Given the description of an element on the screen output the (x, y) to click on. 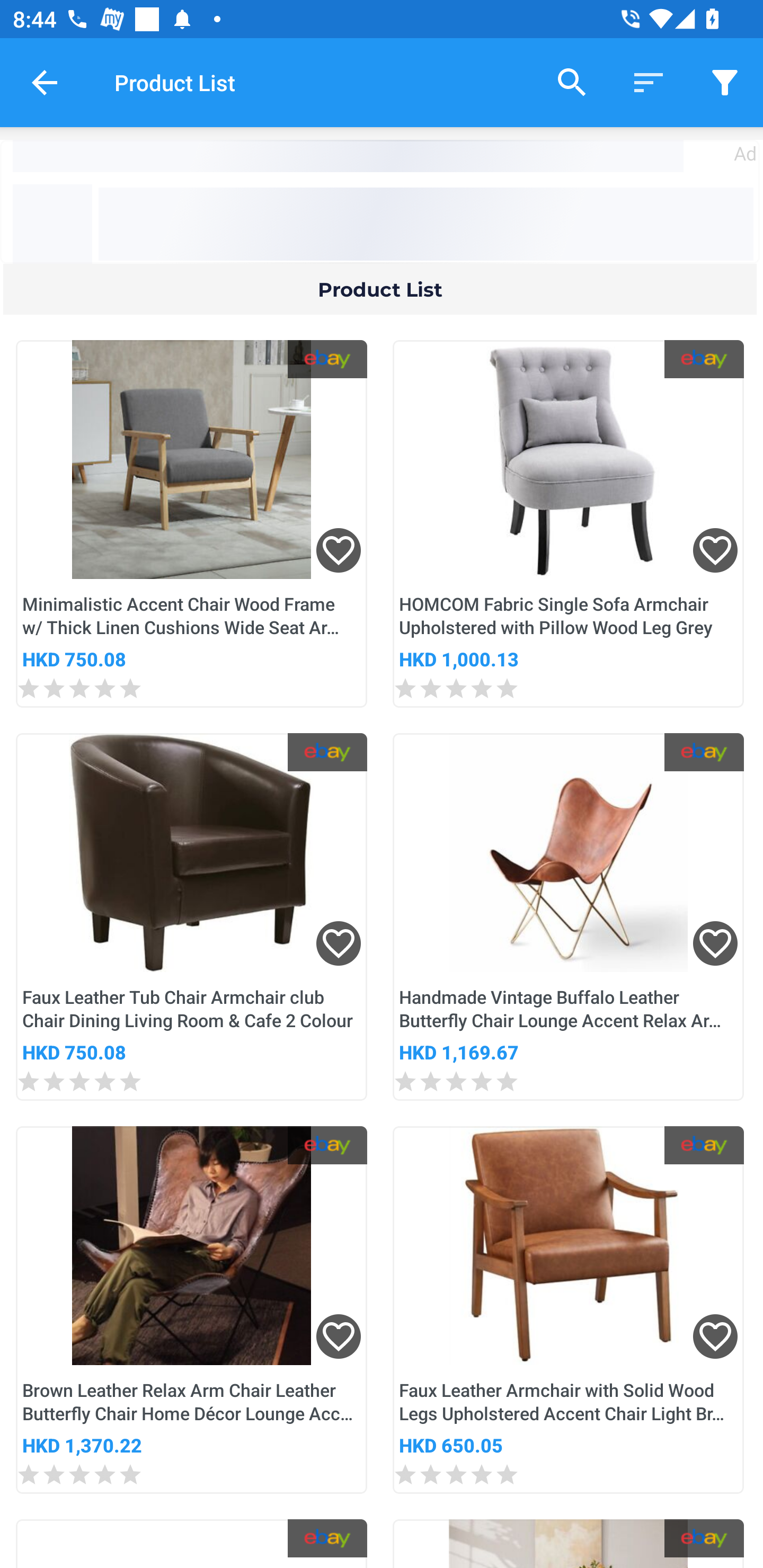
Navigate up (44, 82)
Search (572, 81)
short (648, 81)
short (724, 81)
